Given the description of an element on the screen output the (x, y) to click on. 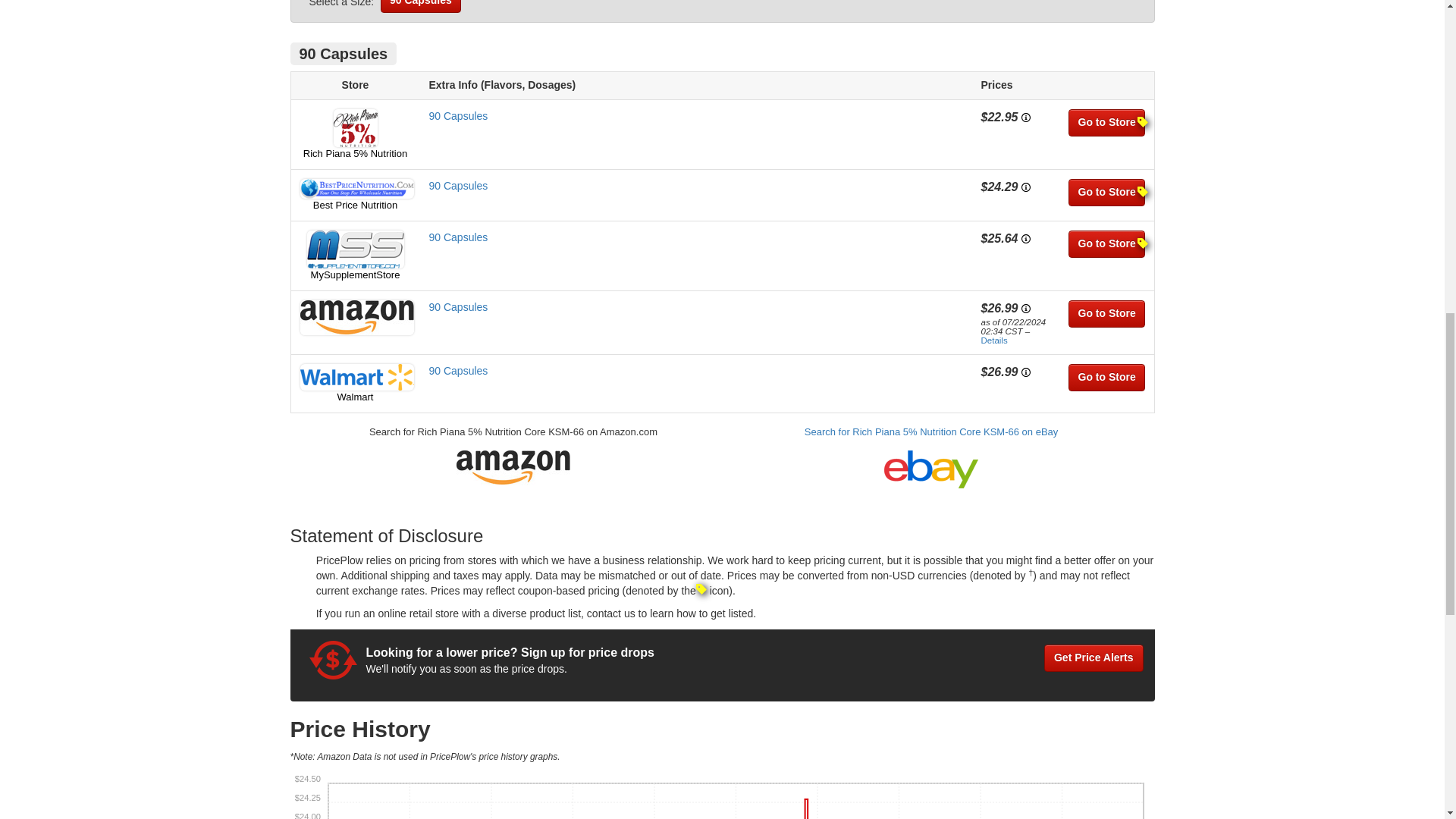
Example coupon icon (700, 588)
